Given the description of an element on the screen output the (x, y) to click on. 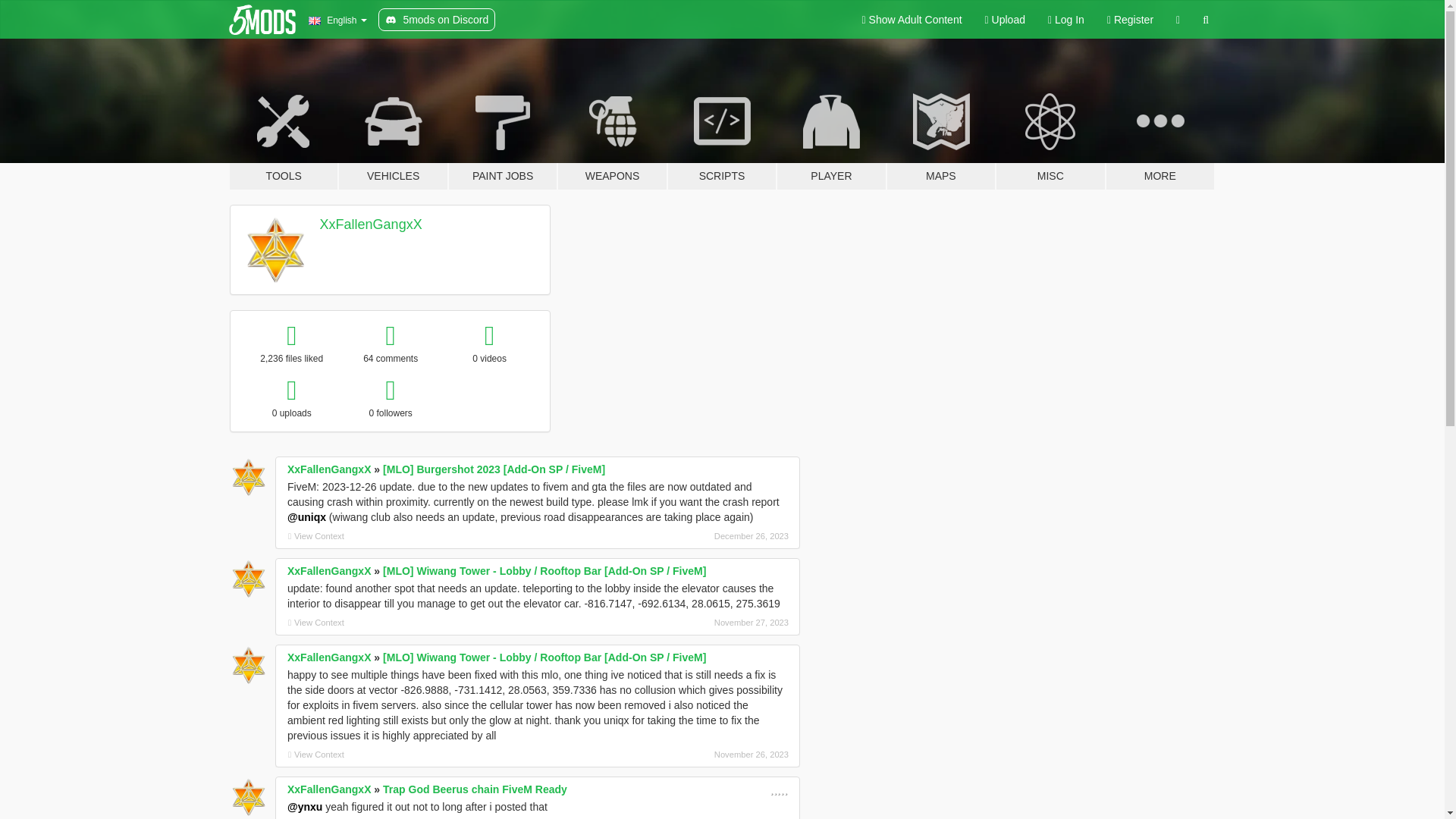
Upload (1005, 19)
5mods on Discord (436, 19)
Show Adult Content (912, 19)
  English (337, 19)
Awesome! (778, 788)
Log In (1066, 19)
Register (1130, 19)
Light mode (912, 19)
